Given the description of an element on the screen output the (x, y) to click on. 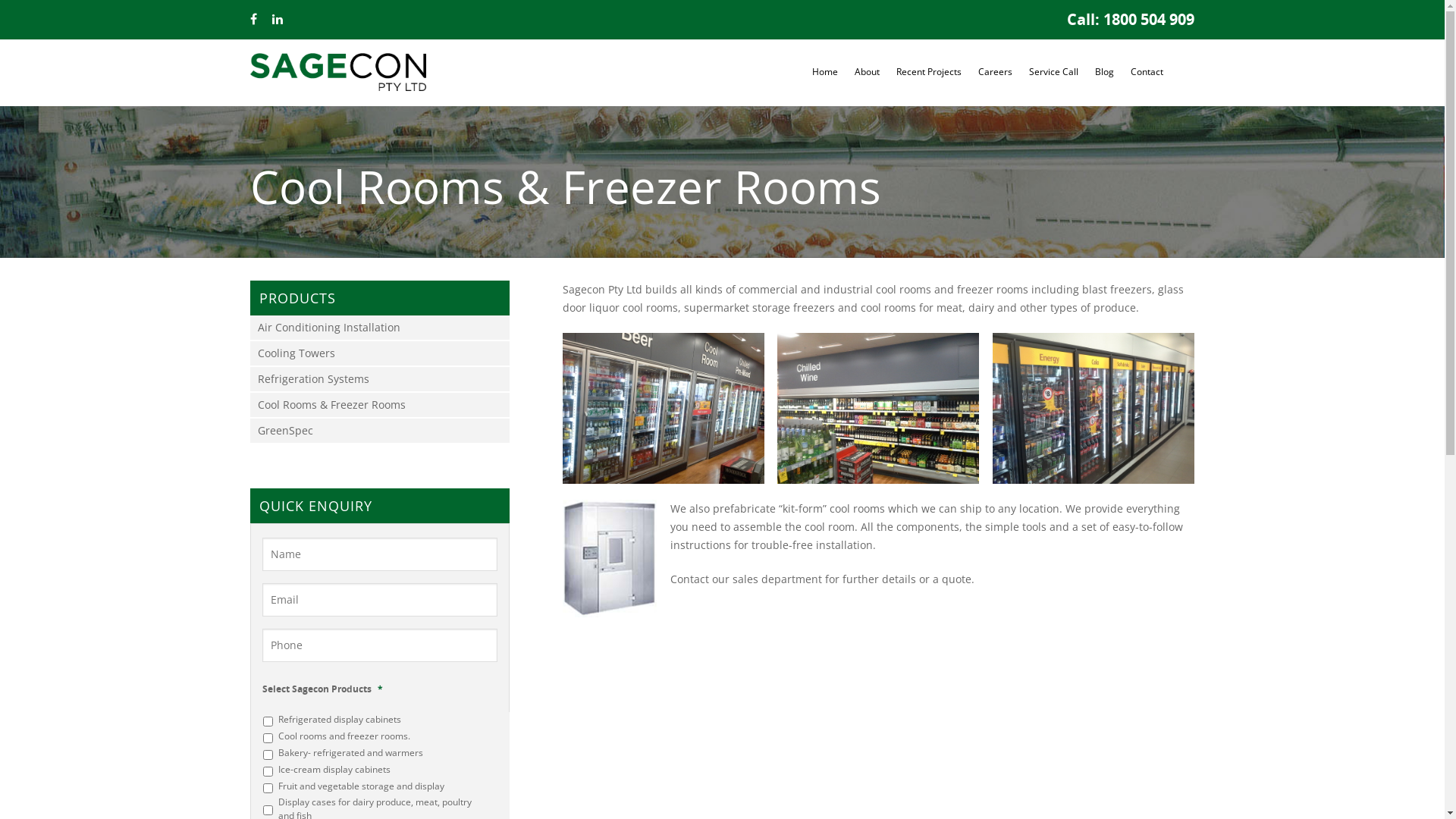
Blog Element type: text (1104, 71)
Cooling Towers Element type: text (383, 353)
Careers Element type: text (994, 71)
Contact Element type: text (1146, 71)
Service Call Element type: text (1053, 71)
GreenSpec Element type: text (383, 430)
Home Element type: text (824, 71)
About Element type: text (867, 71)
Call: 1800 504 909 Element type: text (1130, 19)
Recent Projects Element type: text (928, 71)
Refrigeration Systems Element type: text (383, 379)
Air Conditioning Installation Element type: text (383, 327)
Cool Rooms & Freezer Rooms Element type: text (383, 404)
